Given the description of an element on the screen output the (x, y) to click on. 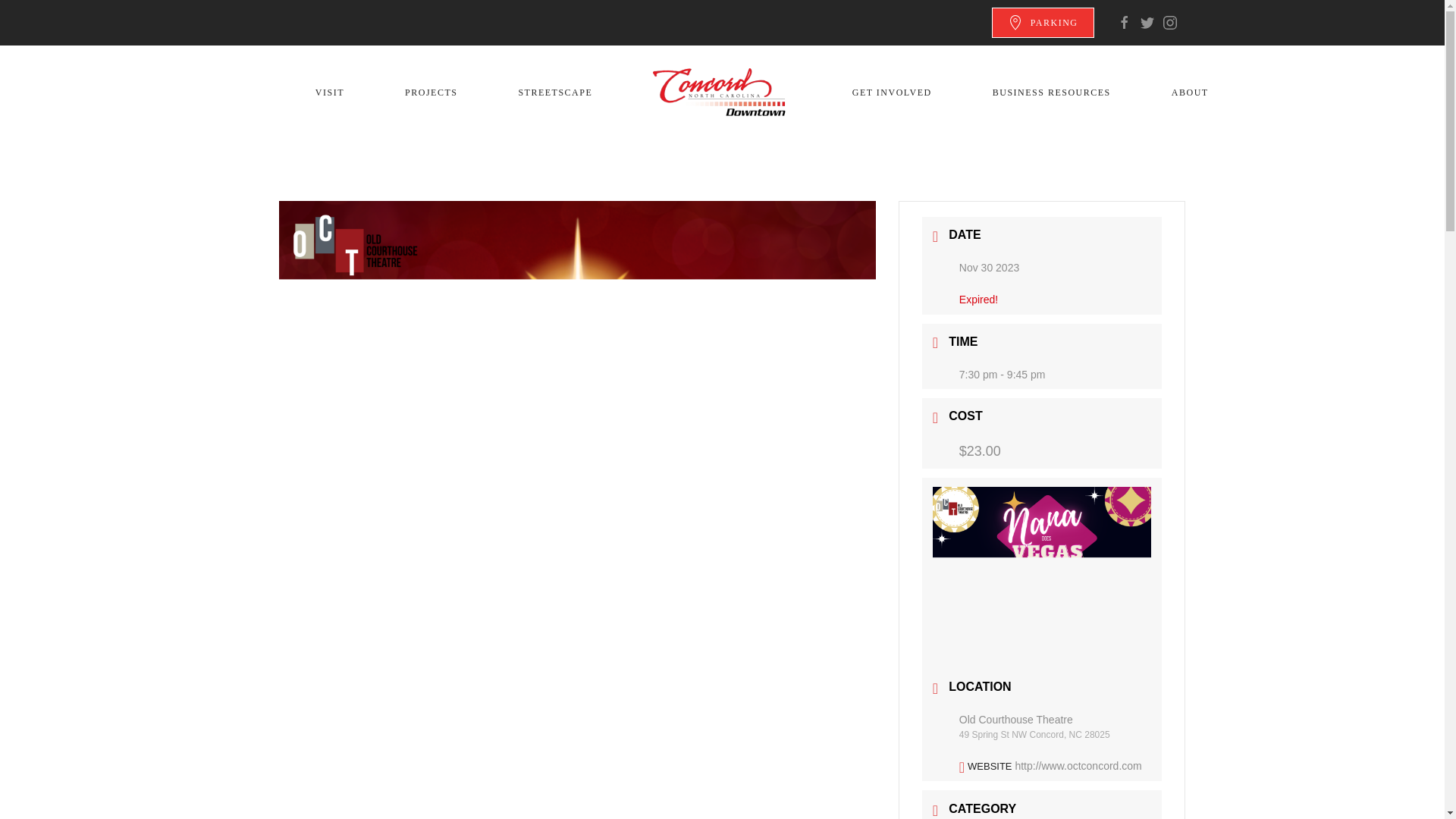
STREETSCAPE (555, 92)
PARKING (1042, 22)
VISIT (329, 92)
PROJECTS (430, 92)
